Given the description of an element on the screen output the (x, y) to click on. 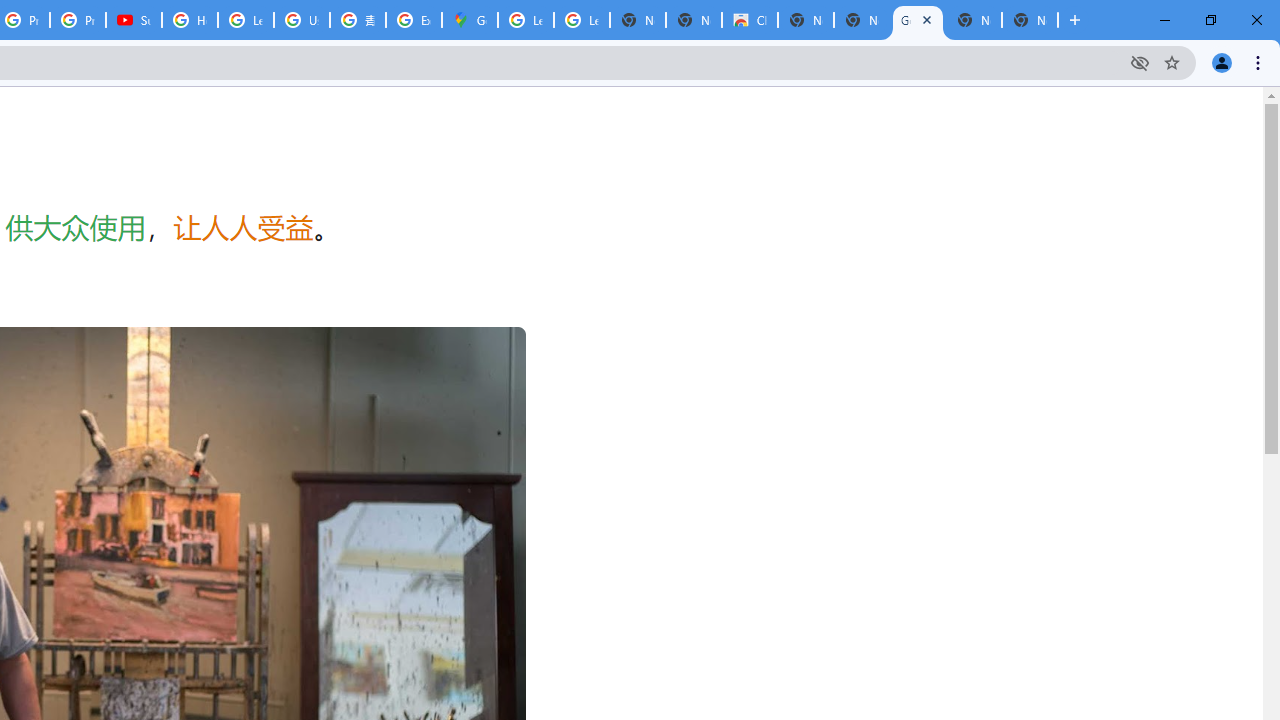
Google Maps (469, 20)
Chrome Web Store (749, 20)
Subscriptions - YouTube (134, 20)
New Tab (1030, 20)
Explore new street-level details - Google Maps Help (413, 20)
